Given the description of an element on the screen output the (x, y) to click on. 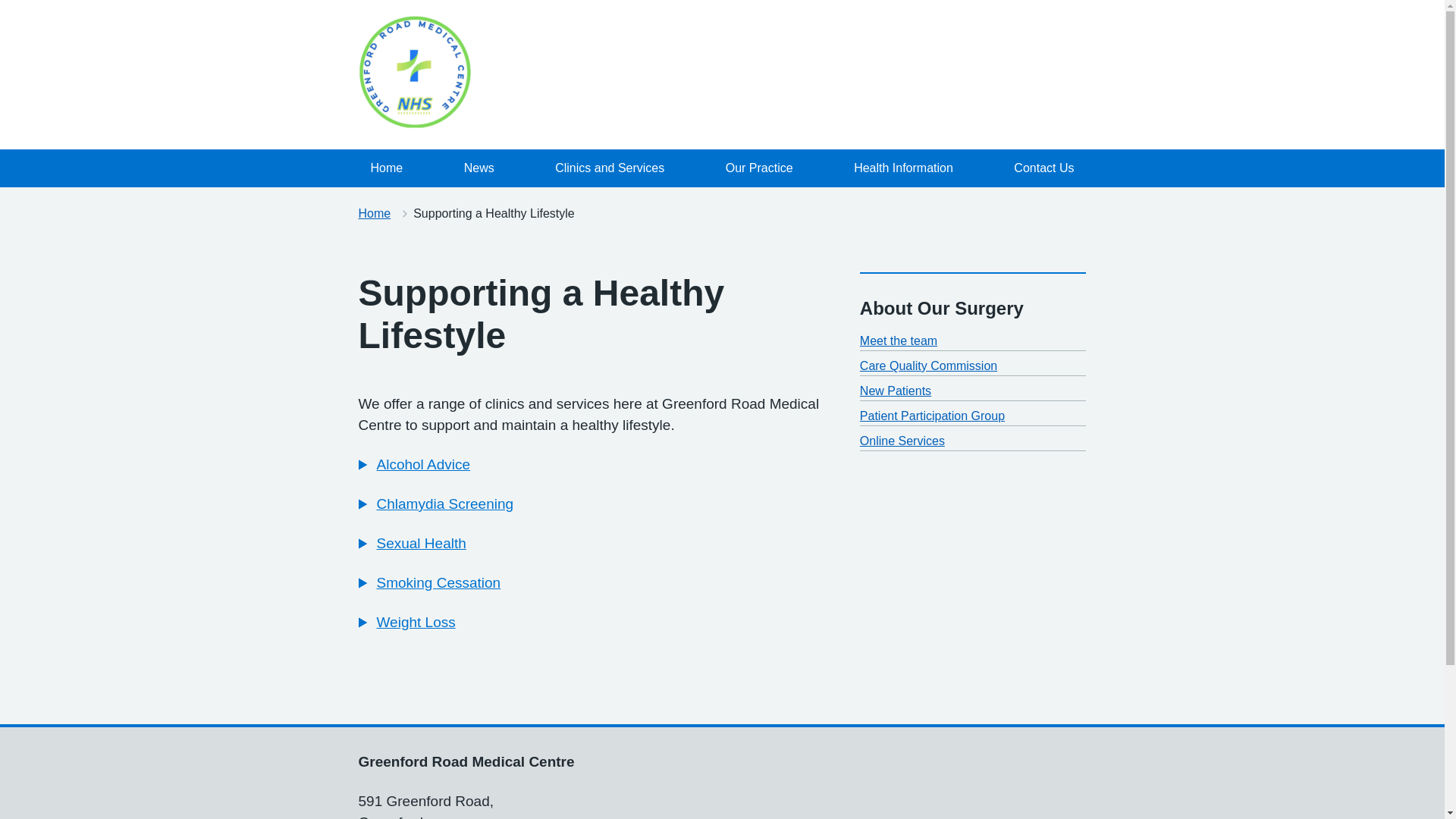
New Patients (895, 390)
Home (386, 168)
Patient Participation Group (932, 415)
Our Practice (759, 168)
Contact Us (1043, 168)
Online Services (902, 440)
Health Information (903, 168)
Home (374, 213)
Clinics and Services (610, 168)
Meet the team (898, 340)
Care Quality Commission (928, 365)
News (478, 168)
